Given the description of an element on the screen output the (x, y) to click on. 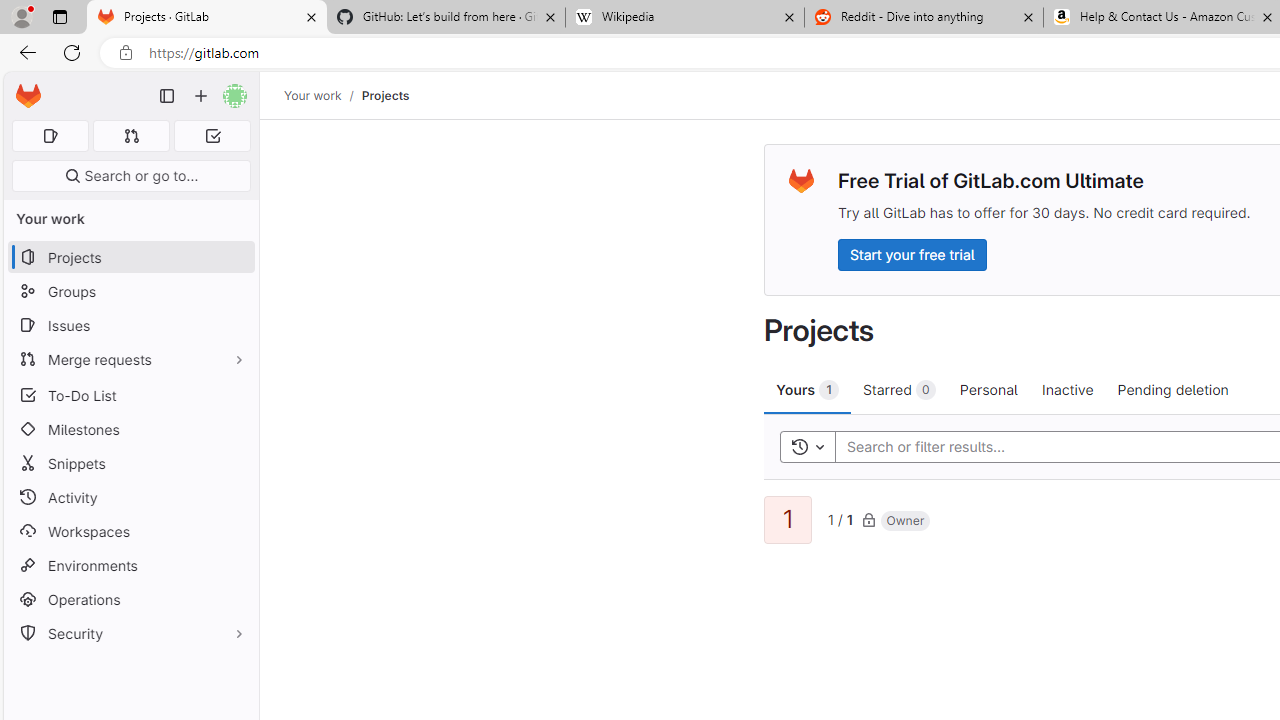
1 (787, 519)
Start your free trial (912, 254)
Activity (130, 497)
Your work (312, 95)
Security (130, 633)
To-Do List (130, 394)
Milestones (130, 429)
Groups (130, 291)
Operations (130, 599)
Groups (130, 291)
Issues (130, 325)
